Given the description of an element on the screen output the (x, y) to click on. 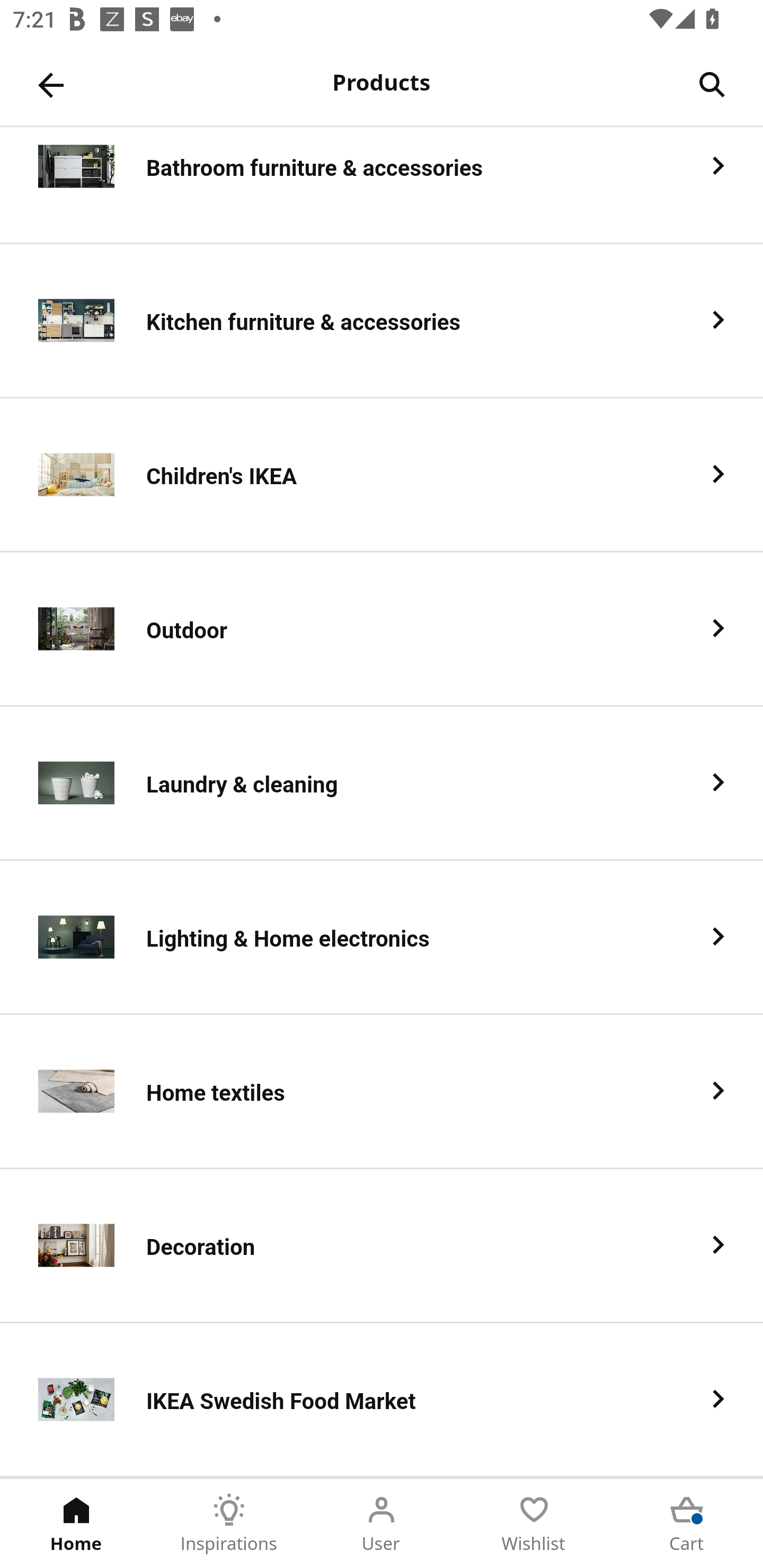
Bathroom furniture & accessories (381, 185)
Kitchen furniture & accessories (381, 321)
Children's IKEA (381, 474)
Outdoor (381, 629)
Laundry & cleaning (381, 783)
Lighting & Home electronics (381, 937)
Home textiles (381, 1091)
Decoration (381, 1246)
IKEA Swedish Food Market (381, 1400)
Home
Tab 1 of 5 (76, 1522)
Inspirations
Tab 2 of 5 (228, 1522)
User
Tab 3 of 5 (381, 1522)
Wishlist
Tab 4 of 5 (533, 1522)
Cart
Tab 5 of 5 (686, 1522)
